Given the description of an element on the screen output the (x, y) to click on. 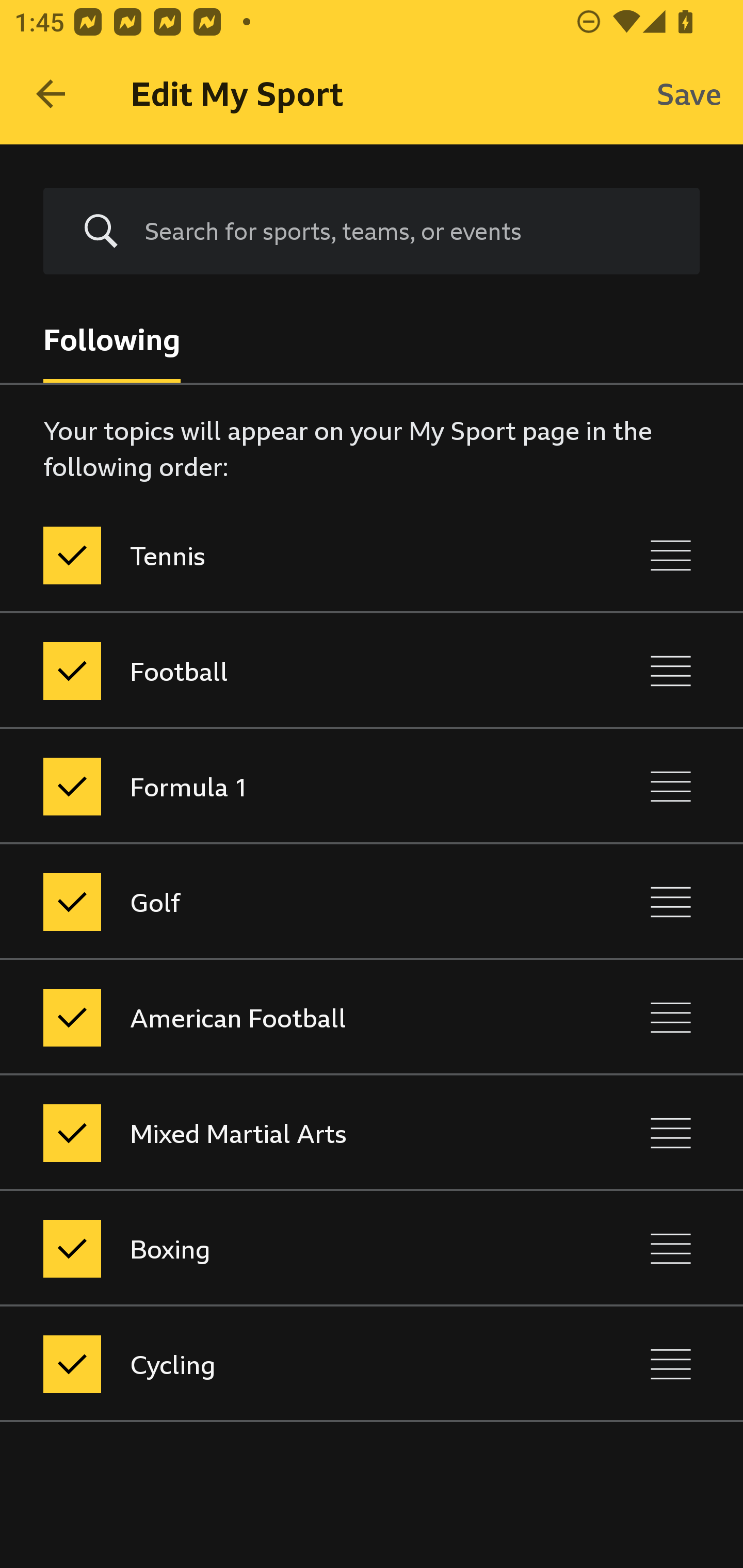
Navigate up (50, 93)
Save (689, 93)
Search for sports, teams, or events (371, 231)
Search for sports, teams, or events (407, 231)
Tennis (284, 555)
Reorder Tennis (670, 555)
Football (284, 671)
Reorder Football (670, 671)
Formula 1 (284, 786)
Reorder Formula 1 (670, 786)
Golf (284, 901)
Reorder Golf (670, 901)
American Football (284, 1017)
Reorder American Football (670, 1017)
Mixed Martial Arts (284, 1133)
Reorder Mixed Martial Arts (670, 1133)
Boxing (284, 1248)
Reorder Boxing (670, 1248)
Cycling (284, 1364)
Reorder Cycling (670, 1364)
